Given the description of an element on the screen output the (x, y) to click on. 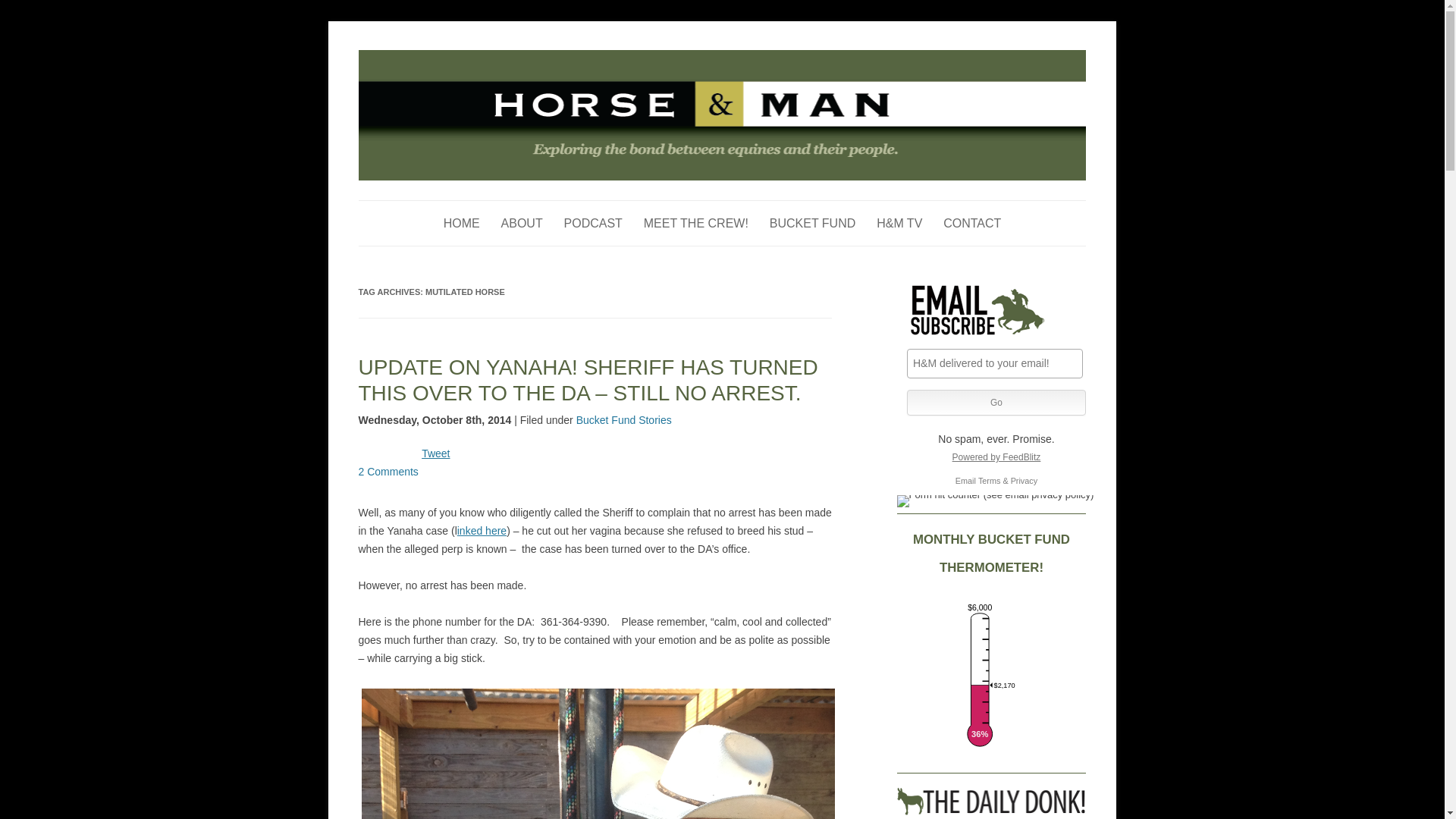
Go (996, 402)
The Drop in the Bucket Fund Story (813, 222)
MEET THE CREW! (695, 222)
Meet the Horse and Man Crew (695, 222)
CONTACT (972, 222)
Horse and Man (428, 57)
Contact Horse and Man (972, 222)
ABOUT (521, 222)
Privacy (1024, 480)
Skip to content (757, 204)
Horse and Man (428, 57)
BUCKET FUND (813, 222)
Terms (989, 480)
Bucket Fund Stories (623, 419)
Skip to content (757, 204)
